Given the description of an element on the screen output the (x, y) to click on. 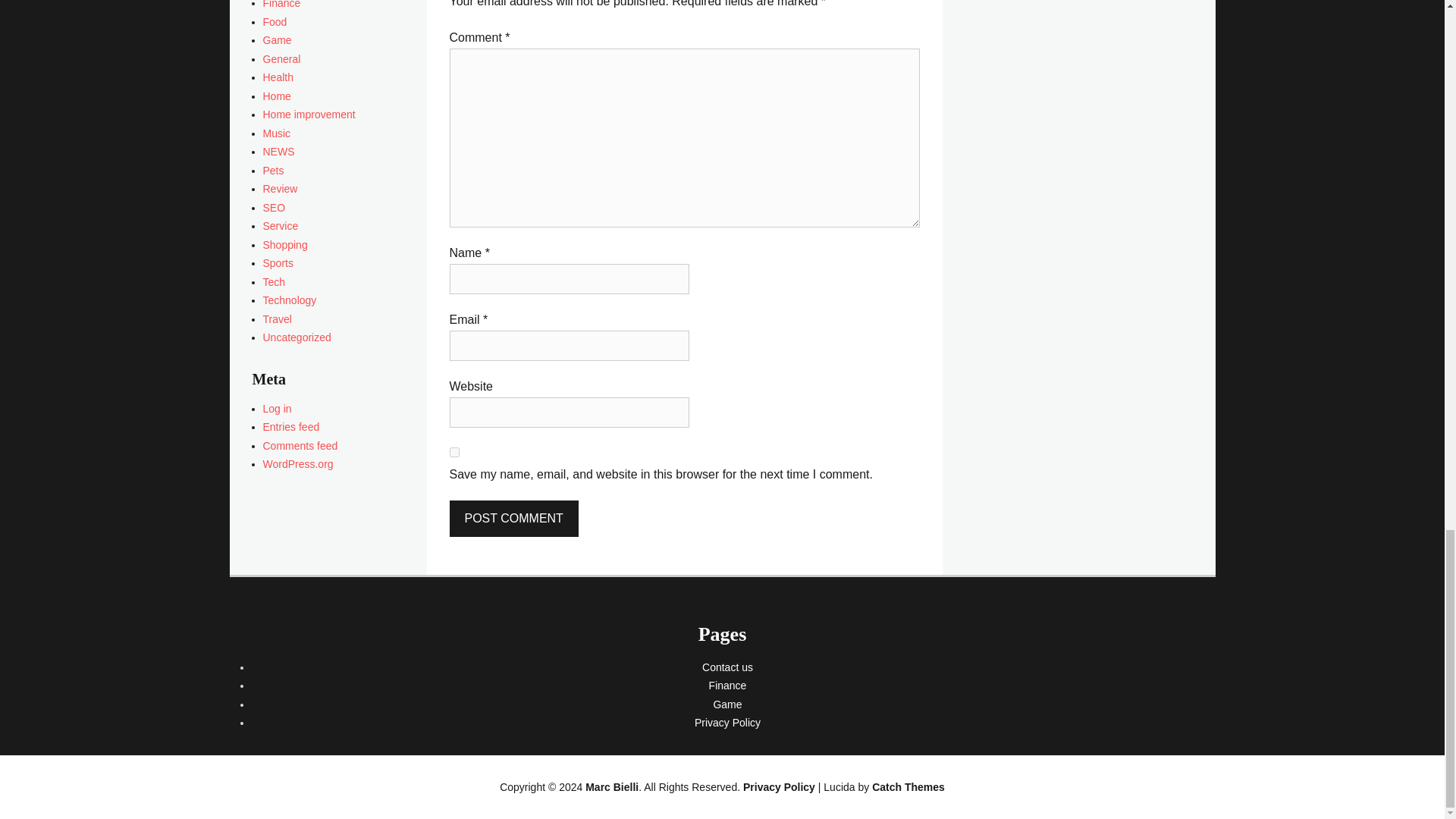
yes (453, 452)
Post Comment (513, 518)
Post Comment (513, 518)
